Given the description of an element on the screen output the (x, y) to click on. 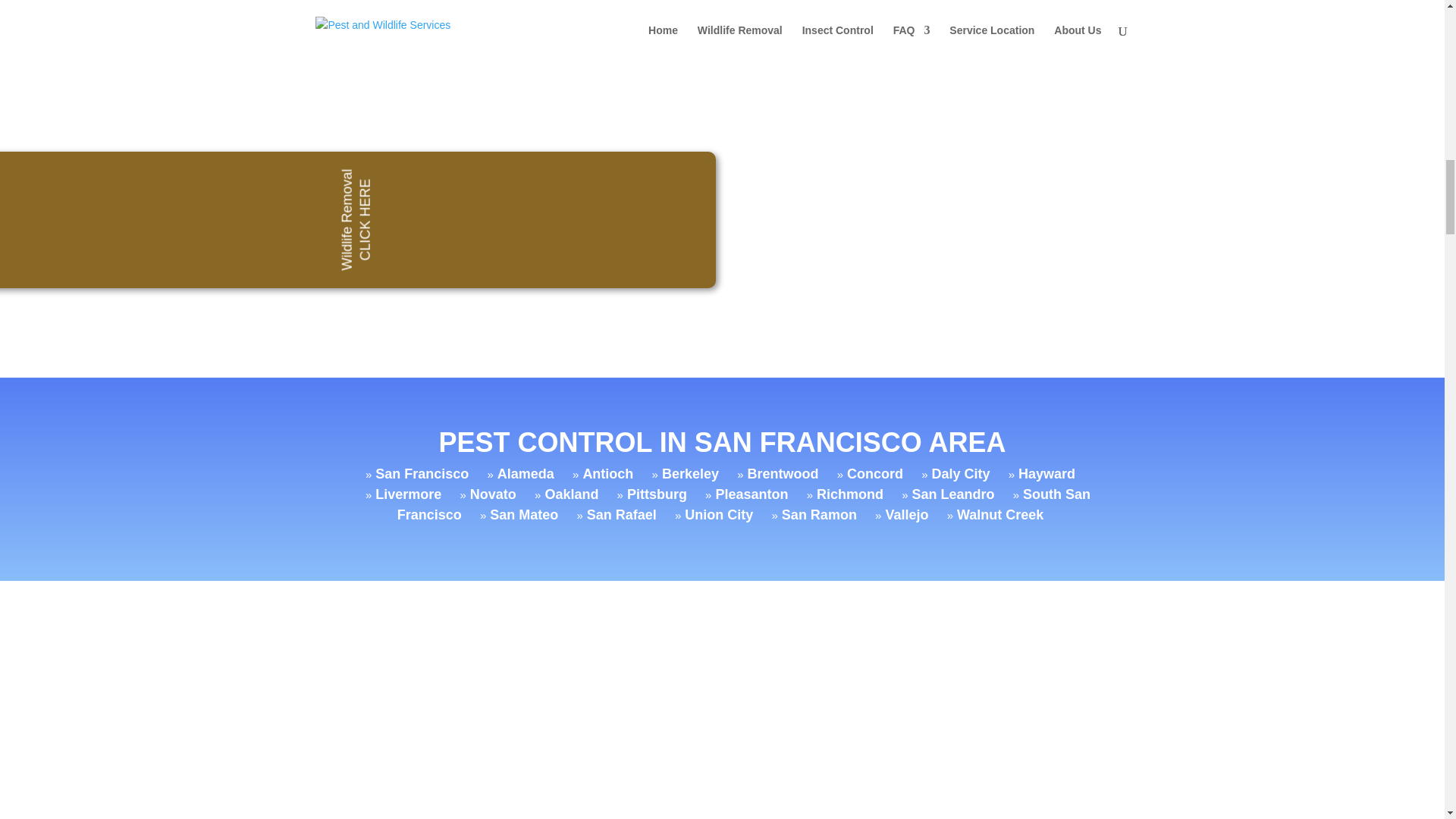
Alameda (525, 473)
Daly City (960, 473)
San Rafael (621, 514)
San Francisco (421, 473)
Hayward (1046, 473)
Novato (493, 494)
San Ramon (819, 514)
Vallejo (906, 514)
San Mateo (523, 514)
Pleasanton (750, 494)
